Given the description of an element on the screen output the (x, y) to click on. 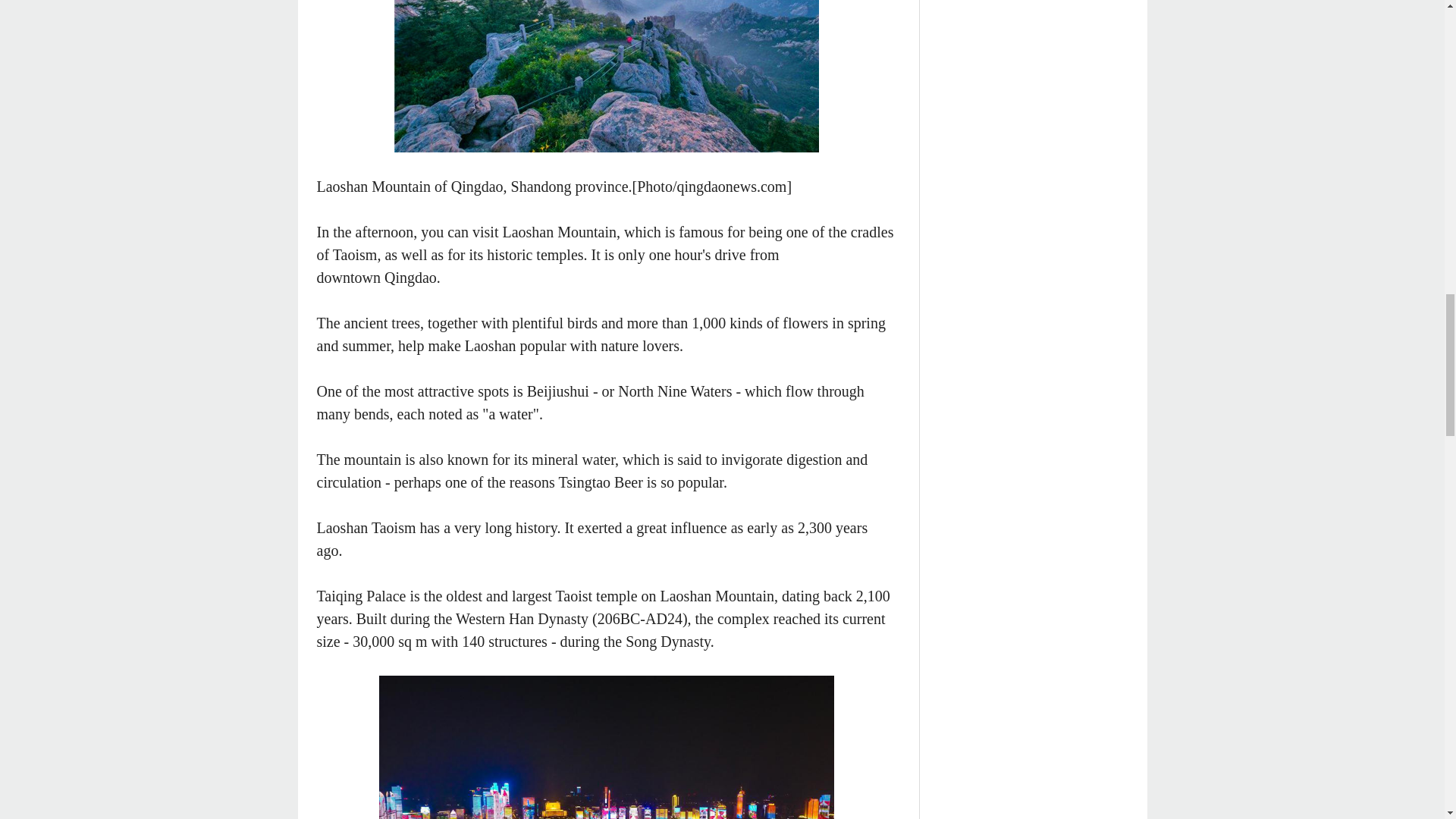
1536048263027076692.png (606, 747)
1536048245622094753.png (606, 76)
